Given the description of an element on the screen output the (x, y) to click on. 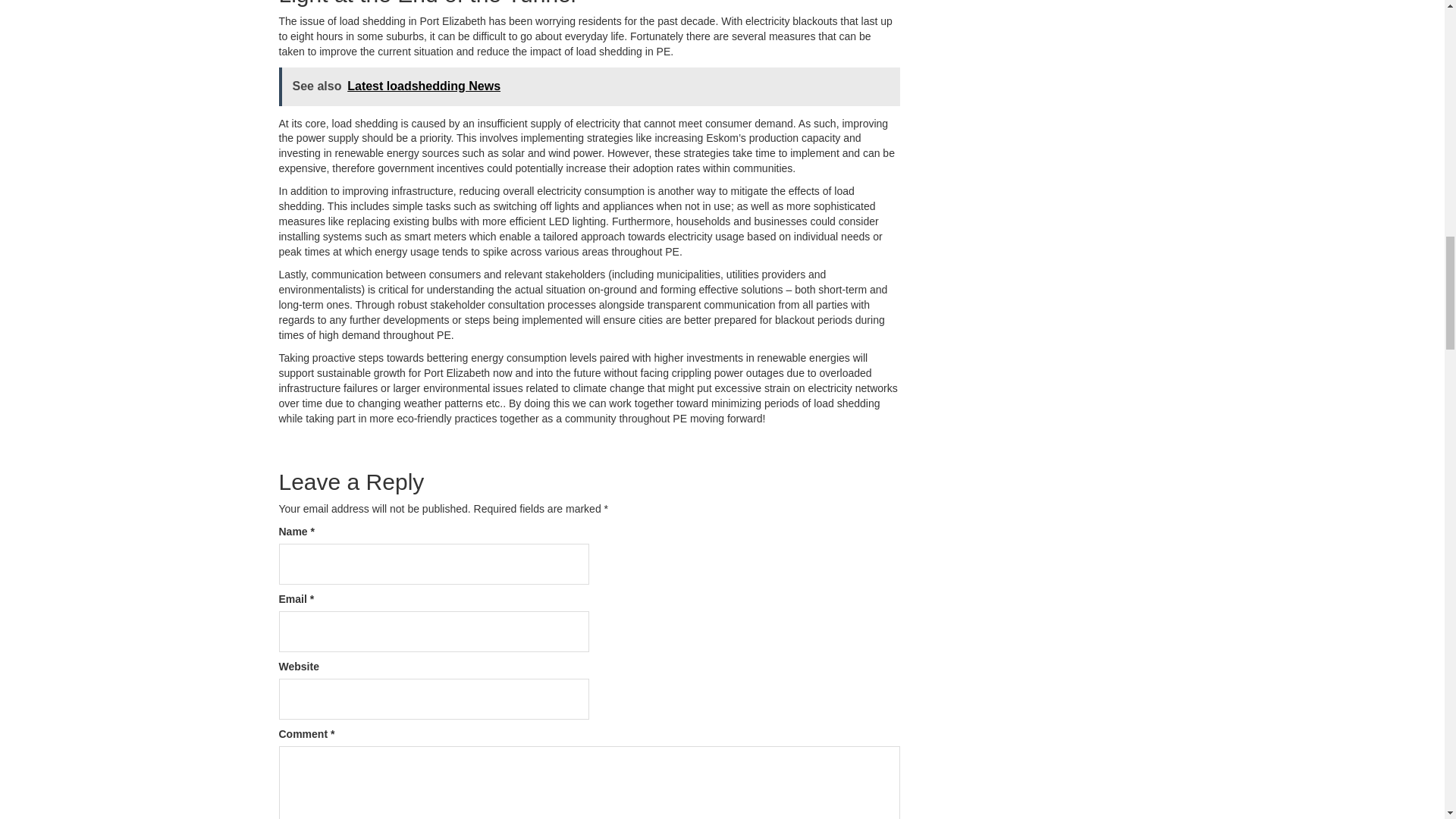
See also  Latest loadshedding News (589, 86)
